Given the description of an element on the screen output the (x, y) to click on. 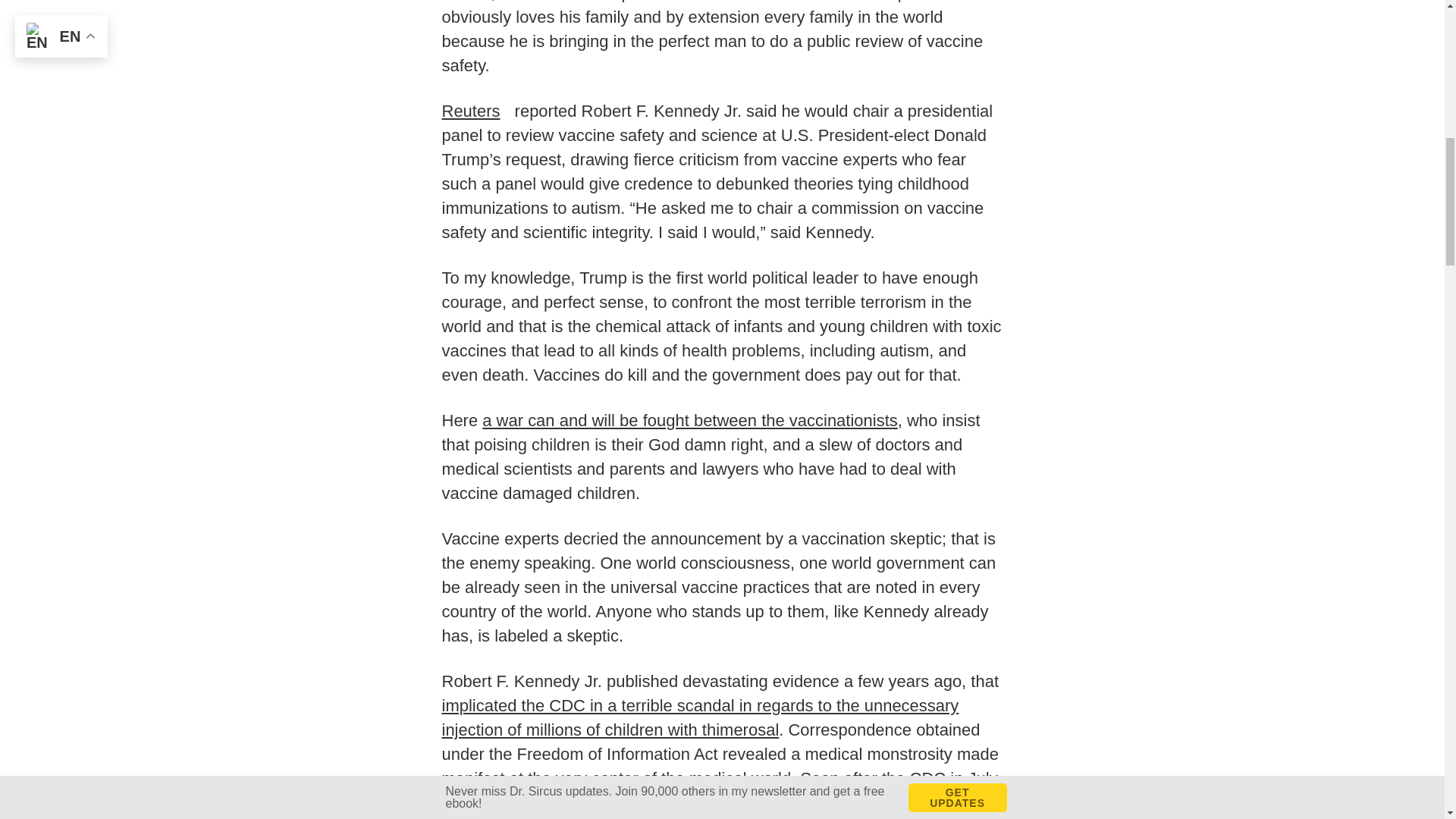
Reuters (475, 110)
Thimerosal as a preservative (715, 806)
a war can and will be fought between the vaccinationists (689, 420)
